Given the description of an element on the screen output the (x, y) to click on. 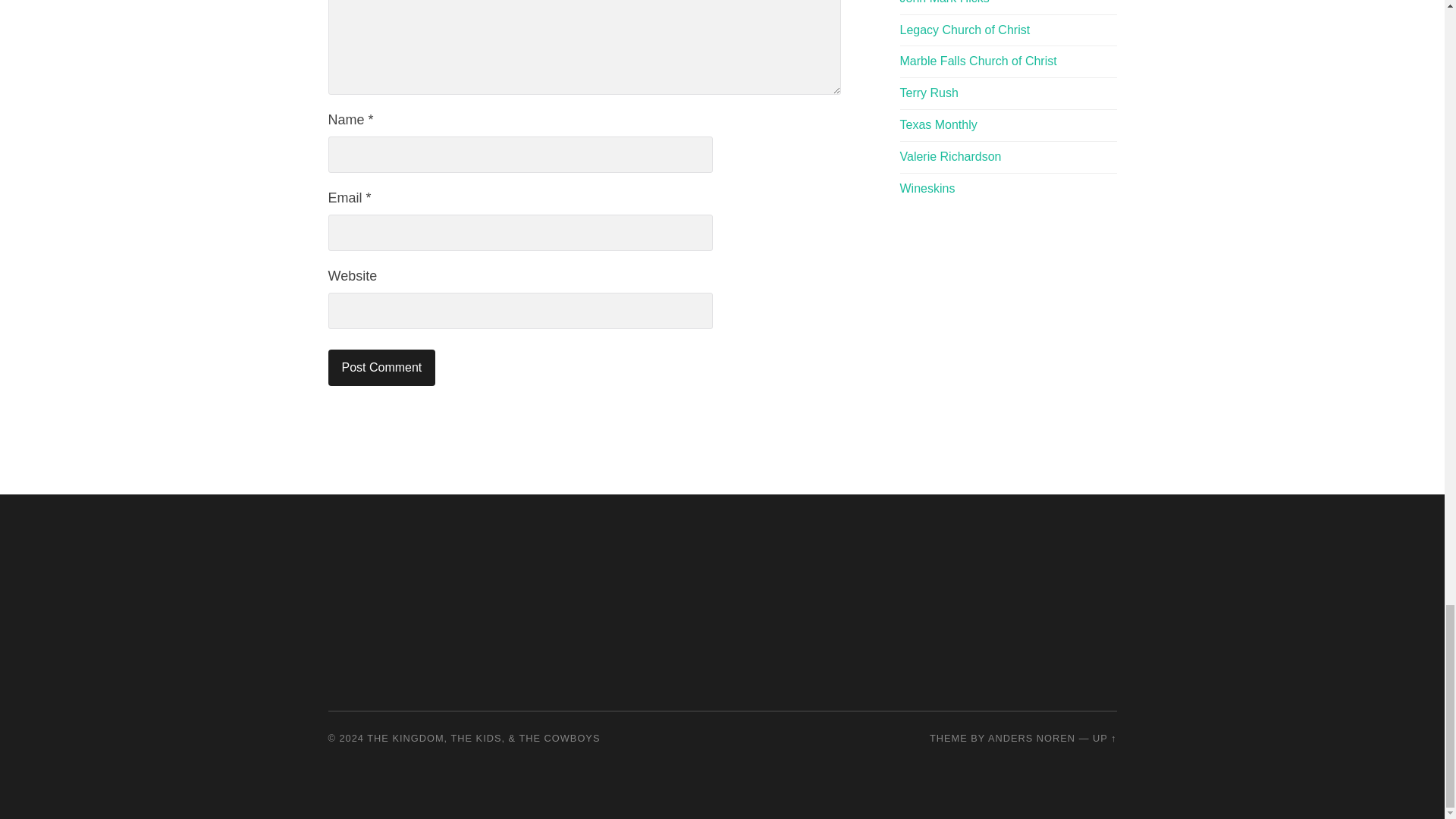
Morning Rush (928, 92)
Post Comment (381, 367)
Post Comment (381, 367)
Legacy Church of Christ in North Richland Hills, Texas (964, 29)
Marble Falls Church of Christ in the Texas Hill Country (978, 60)
John Mark Hicks Ministries (943, 2)
